Given the description of an element on the screen output the (x, y) to click on. 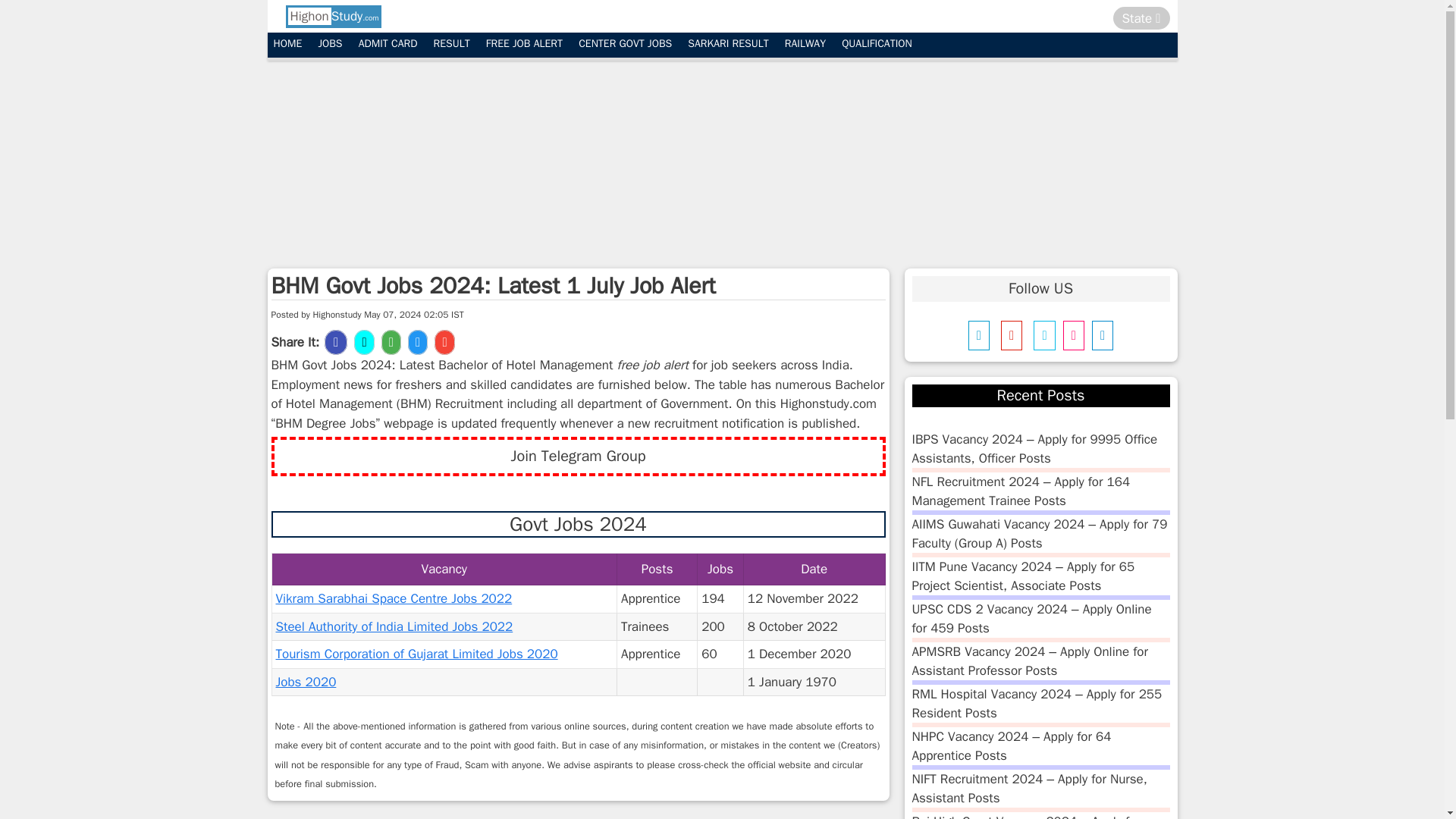
HOME (286, 44)
RESULT (452, 44)
HighonStudy.com (332, 15)
FREE JOB ALERT (524, 44)
ADMIT CARD (387, 44)
CENTER GOVT JOBS (625, 44)
SARKARI RESULT (727, 44)
QUALIFICATION (876, 44)
JOBS (329, 44)
RAILWAY (804, 44)
